Given the description of an element on the screen output the (x, y) to click on. 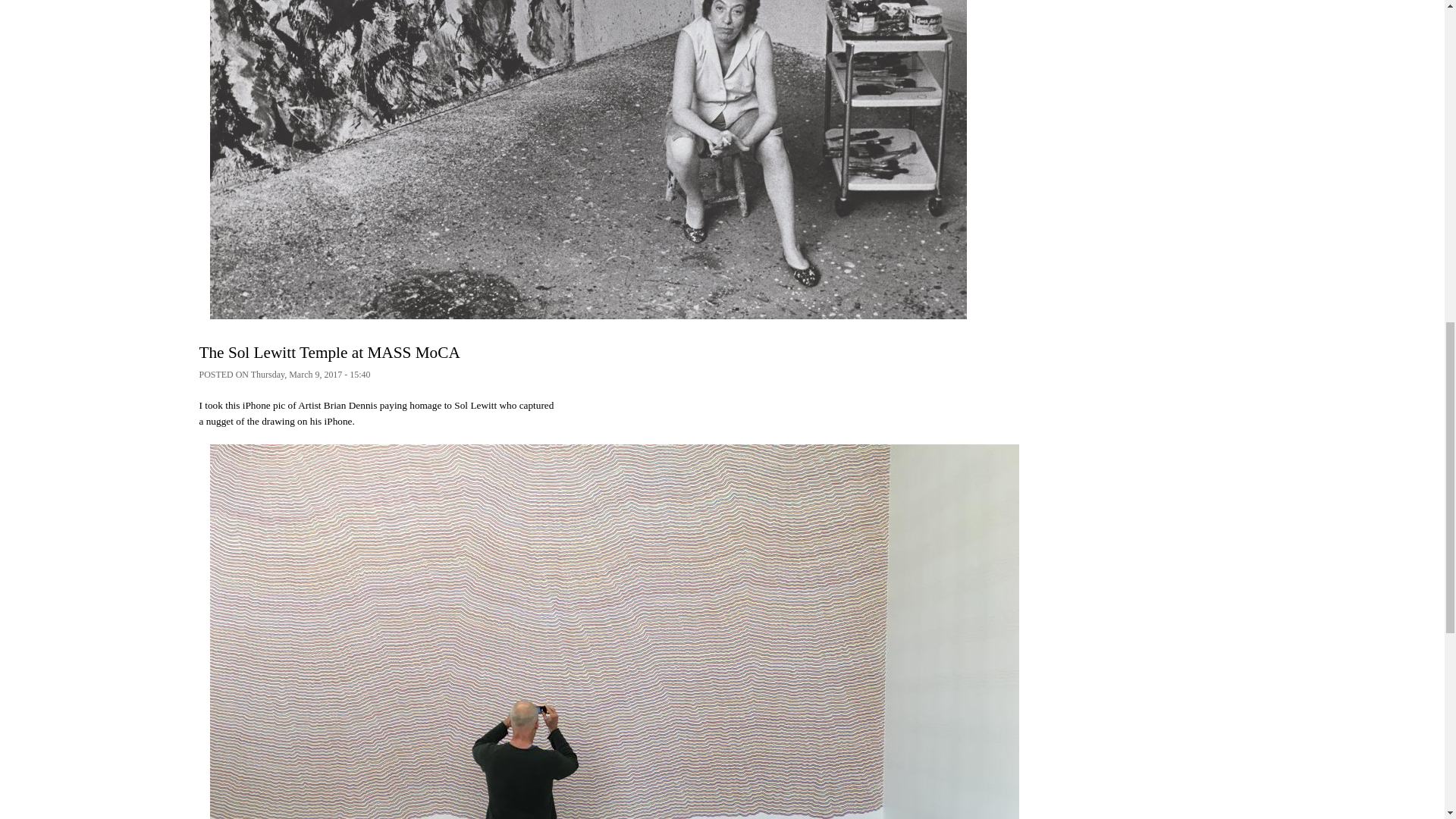
The Sol Lewitt Temple at MASS MoCA (329, 352)
